Given the description of an element on the screen output the (x, y) to click on. 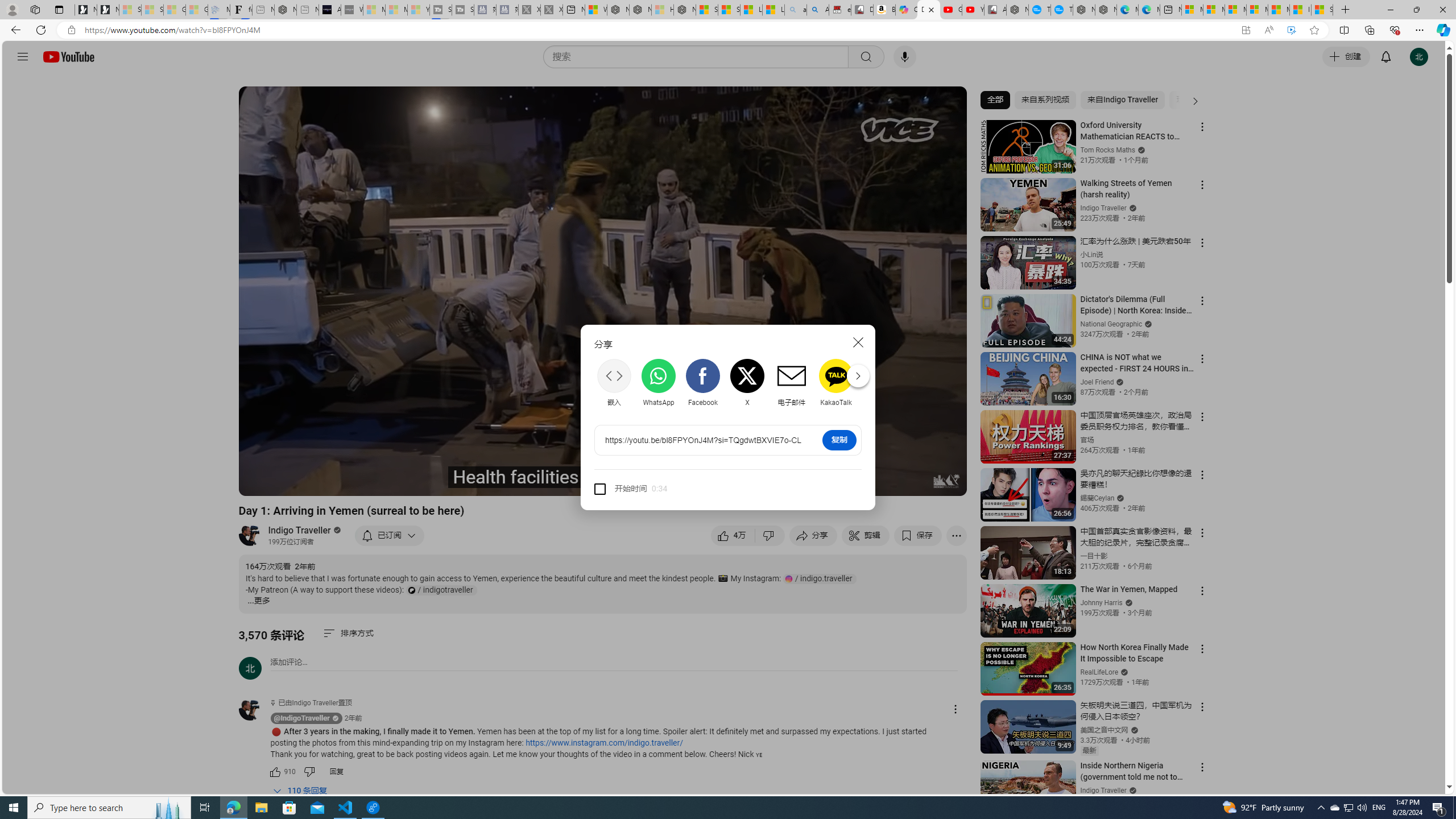
KakaoTalk (836, 383)
Nordace - Nordace Siena Is Not An Ordinary Backpack (684, 9)
Microsoft Start Sports - Sleeping (374, 9)
Newsletter Sign Up (107, 9)
AutomationID: share-url (703, 439)
